Given the description of an element on the screen output the (x, y) to click on. 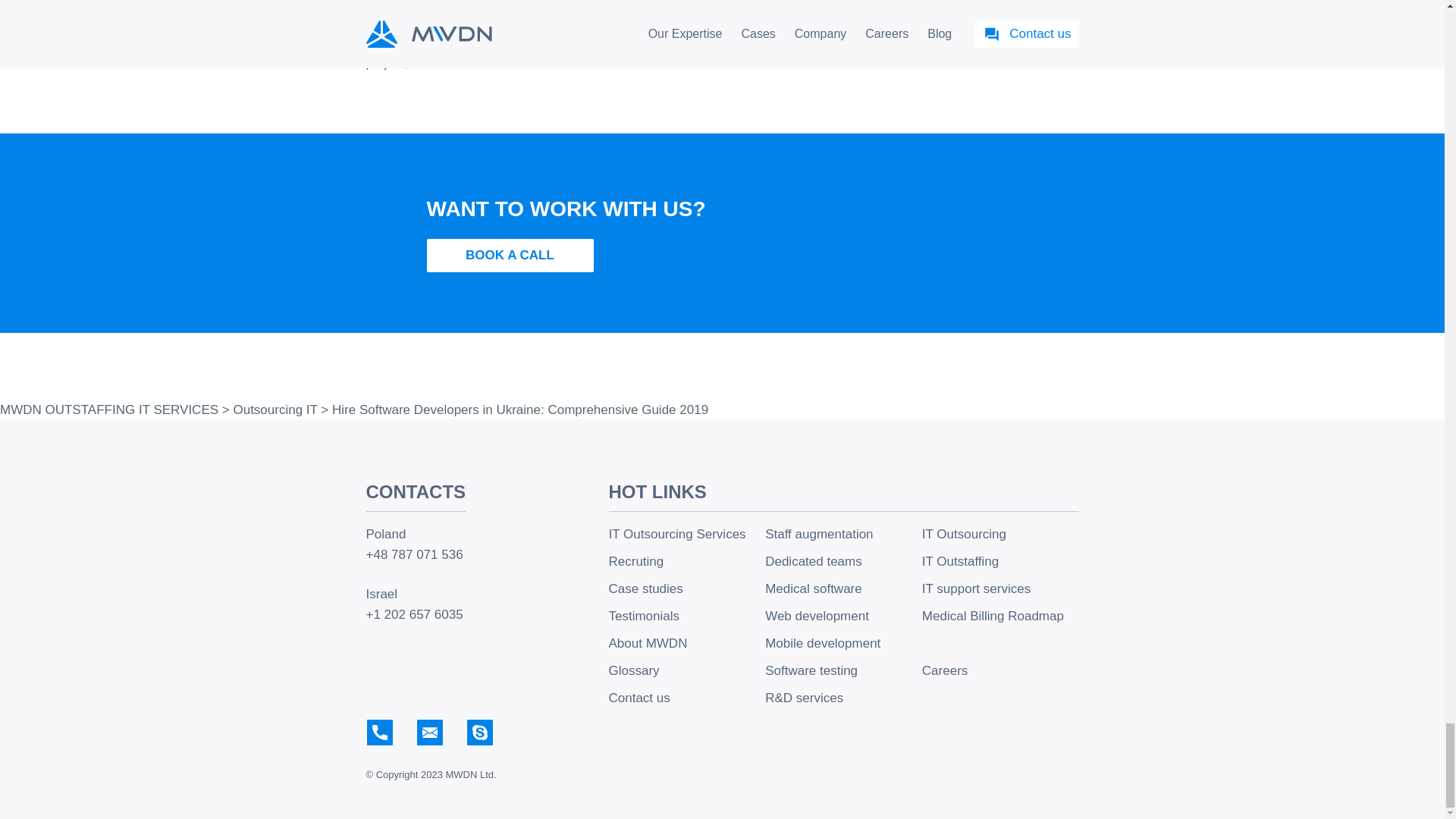
BOOK A CALL (509, 255)
MWDN OUTSTAFFING IT SERVICES (109, 409)
Glossary (686, 670)
Recruting (686, 561)
Testimonials (686, 616)
Go to the Outsourcing IT Category archives. (274, 409)
About MWDN (686, 643)
a professional outsource service provider in Ukraine (682, 44)
